Given the description of an element on the screen output the (x, y) to click on. 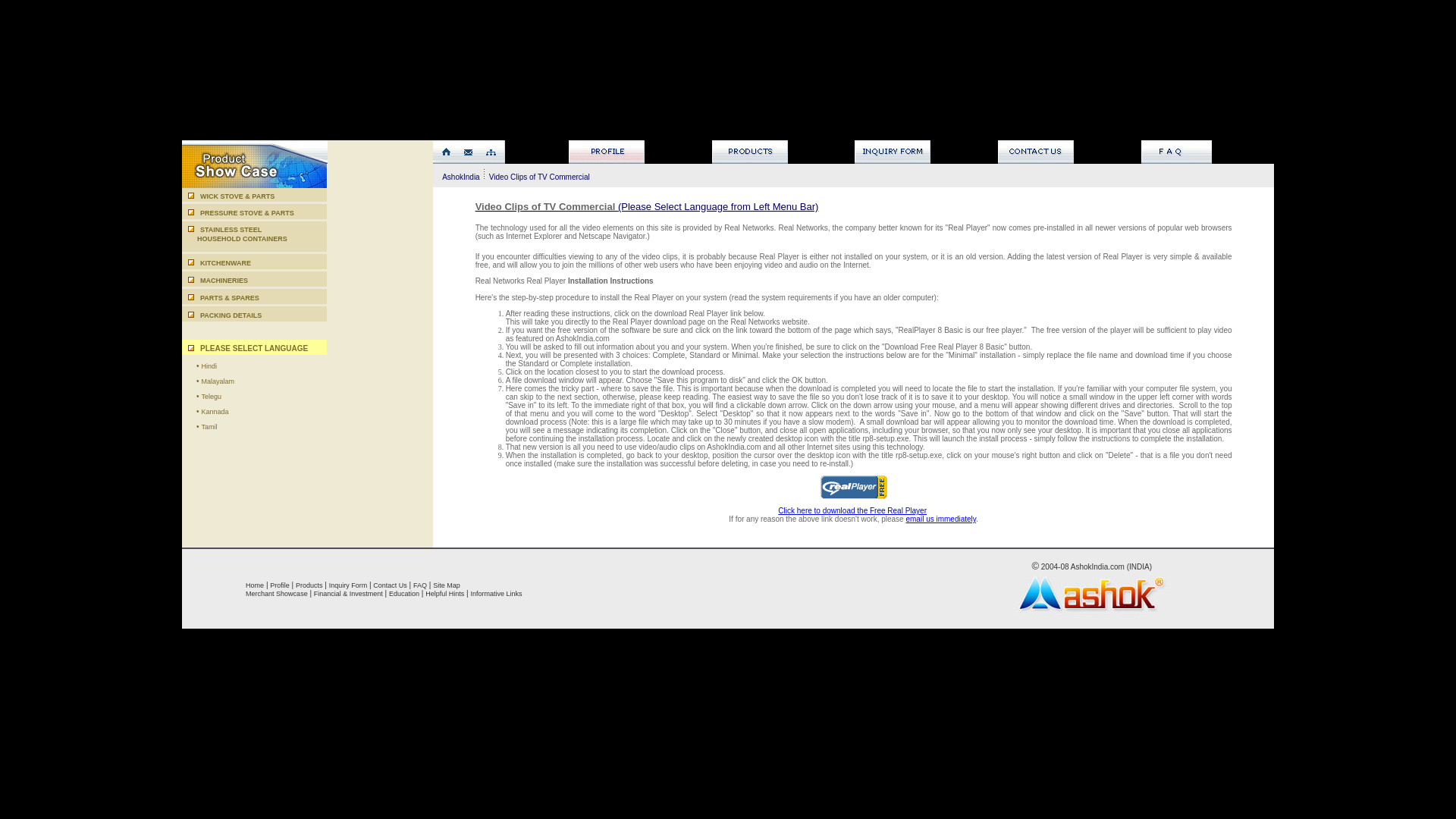
Malayalam (217, 380)
Tamil (208, 426)
Click here to download the Free Real Player (851, 510)
MACHINERIES (223, 280)
Products (309, 584)
PACKING DETAILS (231, 315)
FAQ (419, 584)
Profile (279, 584)
Education (403, 593)
Hindi (208, 366)
Site Map (234, 234)
KITCHENWARE (446, 584)
Helpful Hints (225, 262)
Merchant Showcase (444, 593)
